Given the description of an element on the screen output the (x, y) to click on. 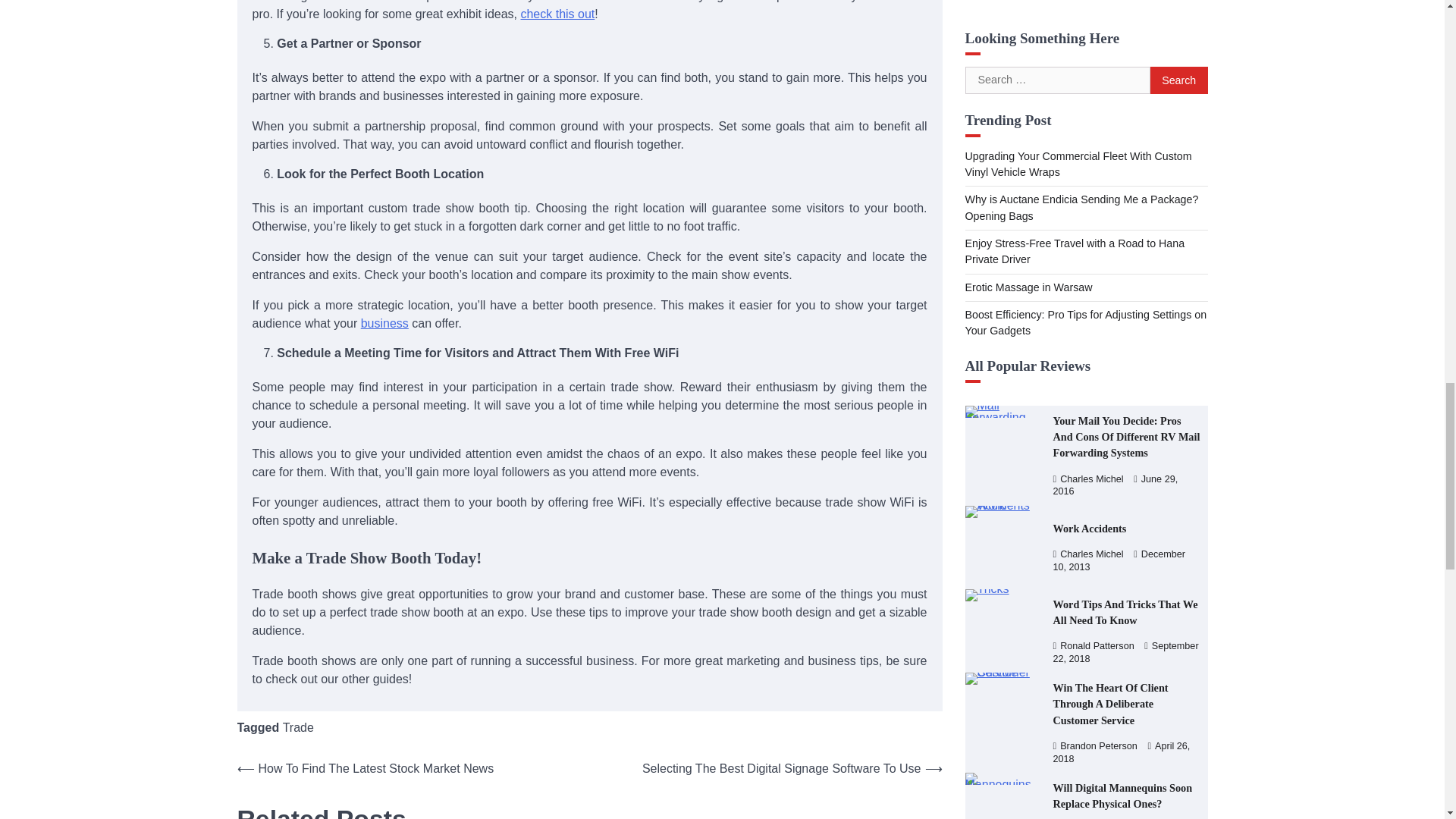
Trade (298, 727)
business (385, 323)
check this out (556, 13)
